Given the description of an element on the screen output the (x, y) to click on. 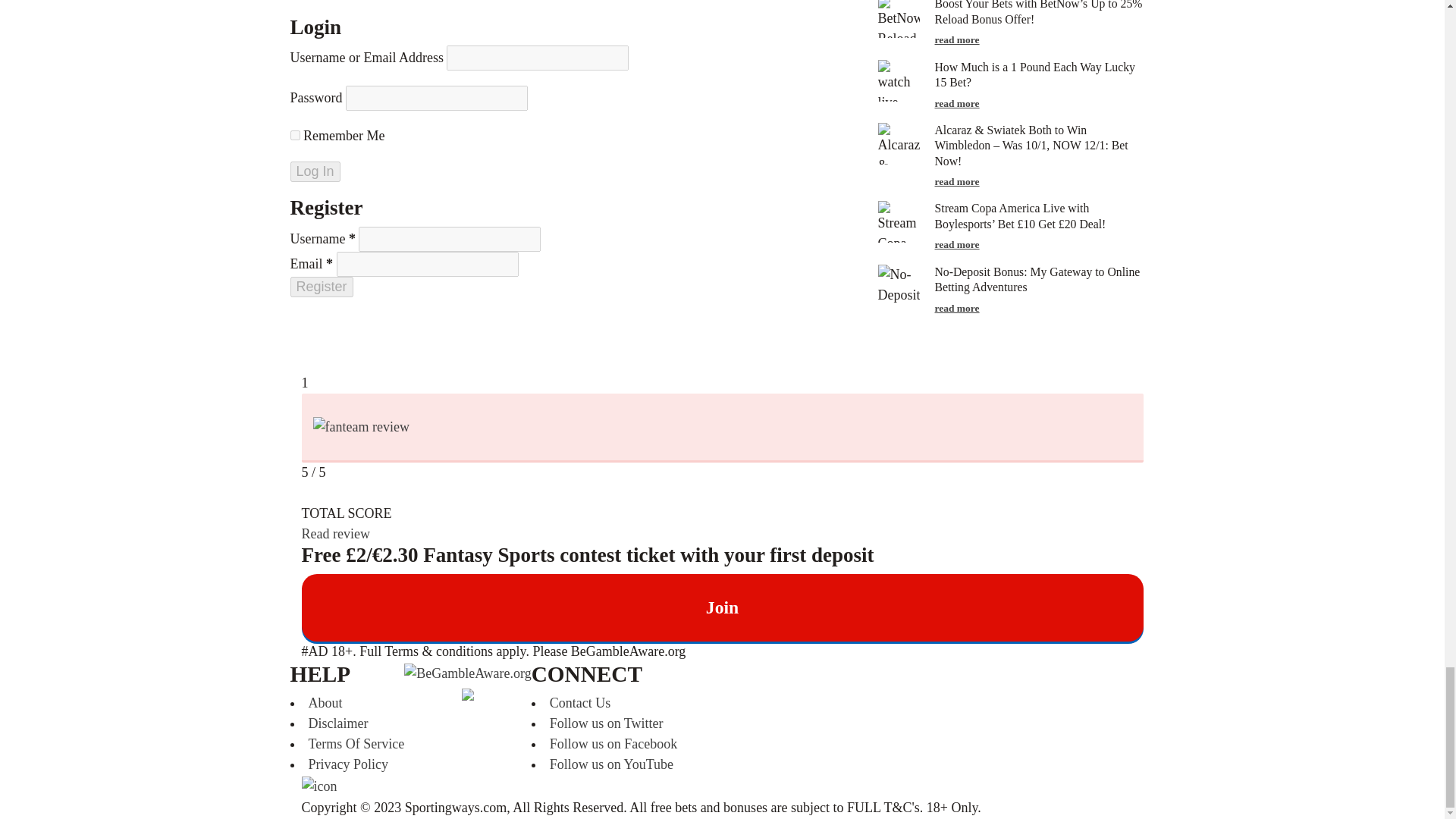
Log In (314, 171)
Register (320, 286)
forever (294, 135)
